Given the description of an element on the screen output the (x, y) to click on. 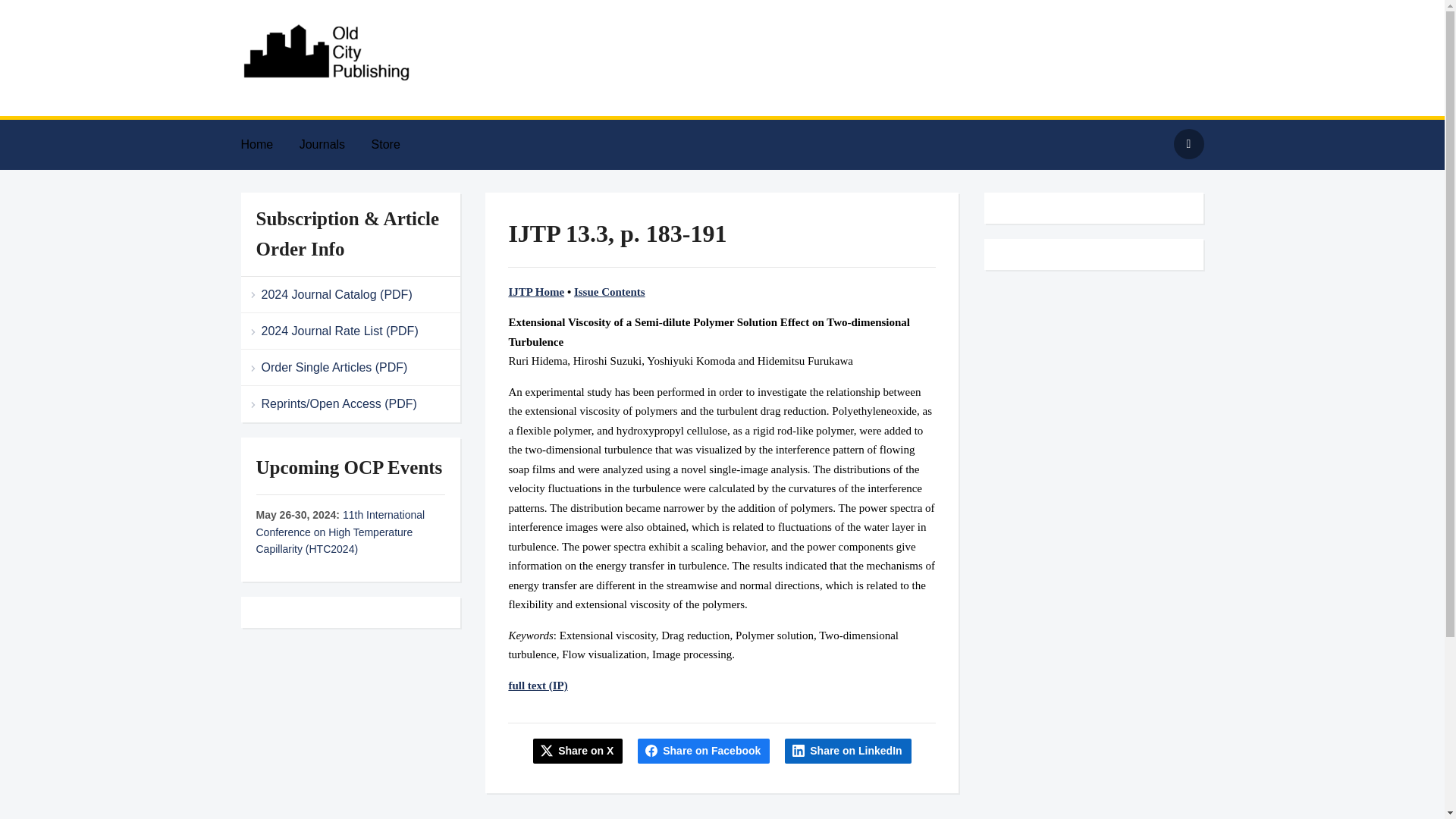
Share this on Facebook (703, 750)
Share on Facebook (703, 750)
Issue Contents (609, 291)
Share on LinkedIn (847, 750)
Search (1188, 143)
Share this on X (577, 750)
Share on LinkedIn (847, 750)
Journals (333, 144)
Share on X (577, 750)
Store (397, 144)
IJTP Home (536, 291)
Home (269, 144)
